Given the description of an element on the screen output the (x, y) to click on. 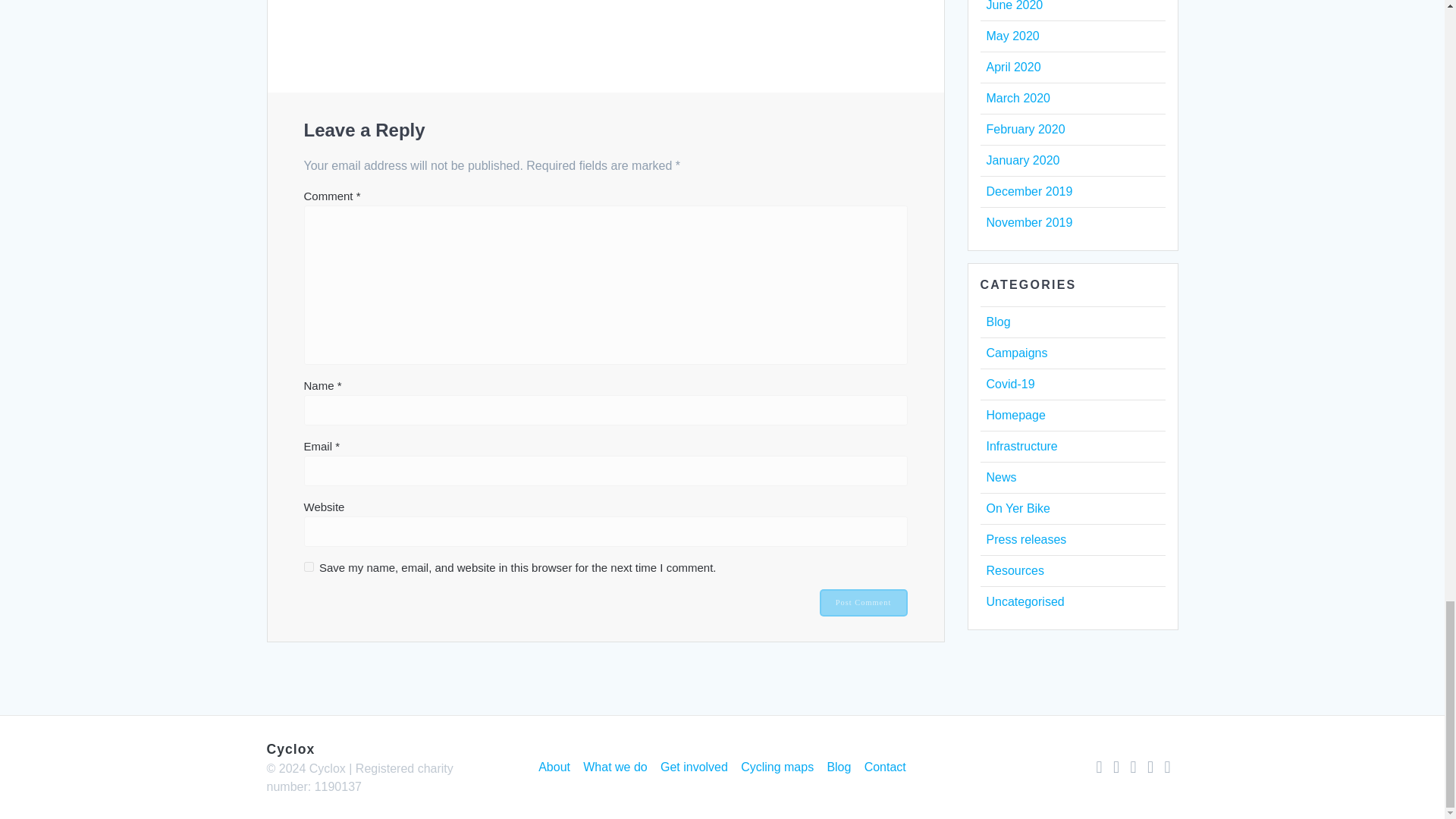
Post Comment (863, 602)
yes (307, 566)
Post Comment (863, 602)
